Given the description of an element on the screen output the (x, y) to click on. 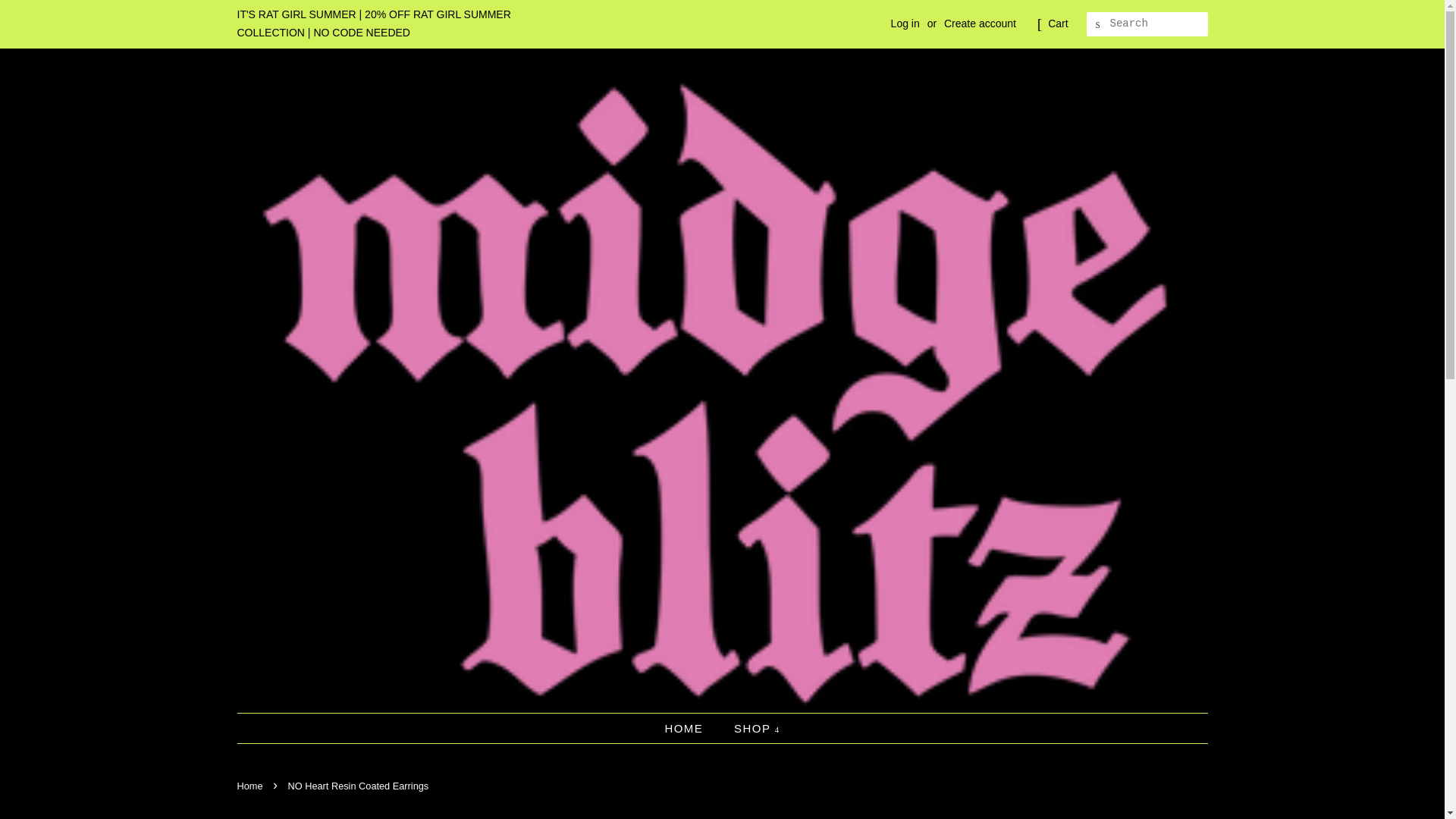
Create account (979, 23)
SHOP (751, 728)
Cart (1057, 24)
Back to the frontpage (250, 785)
SEARCH (1097, 24)
HOME (690, 728)
Log in (905, 23)
Home (250, 785)
